Given the description of an element on the screen output the (x, y) to click on. 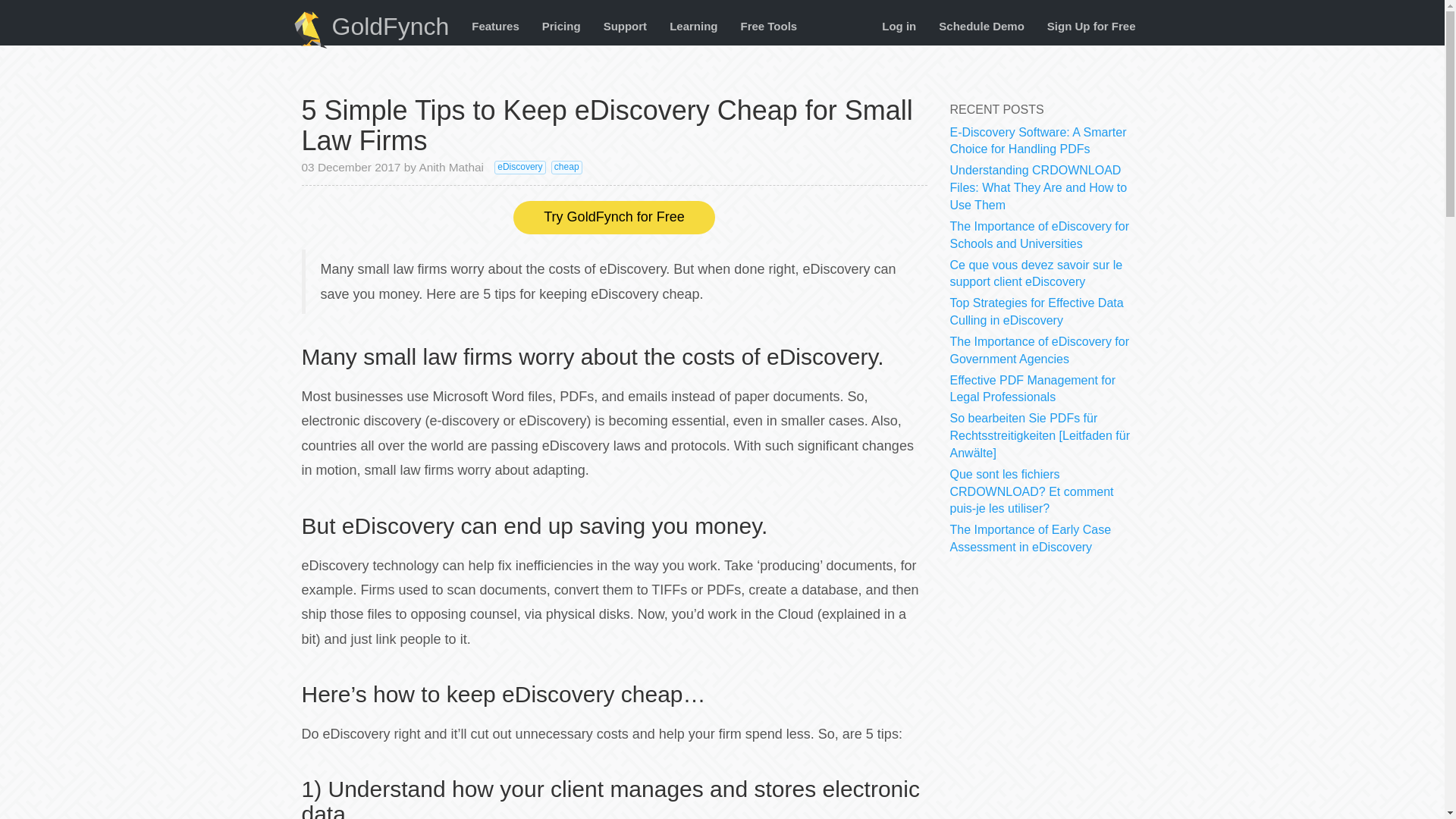
Support (625, 26)
Pricing (561, 26)
Try GoldFynch for Free (613, 217)
Sign Up for Free (1091, 26)
Try GoldFynch for Free (613, 217)
E-Discovery Software: A Smarter Choice for Handling PDFs (1037, 141)
Log in (898, 26)
Sign Up for Free (1091, 26)
Support (625, 26)
Ce que vous devez savoir sur le support client eDiscovery (1035, 272)
